Given the description of an element on the screen output the (x, y) to click on. 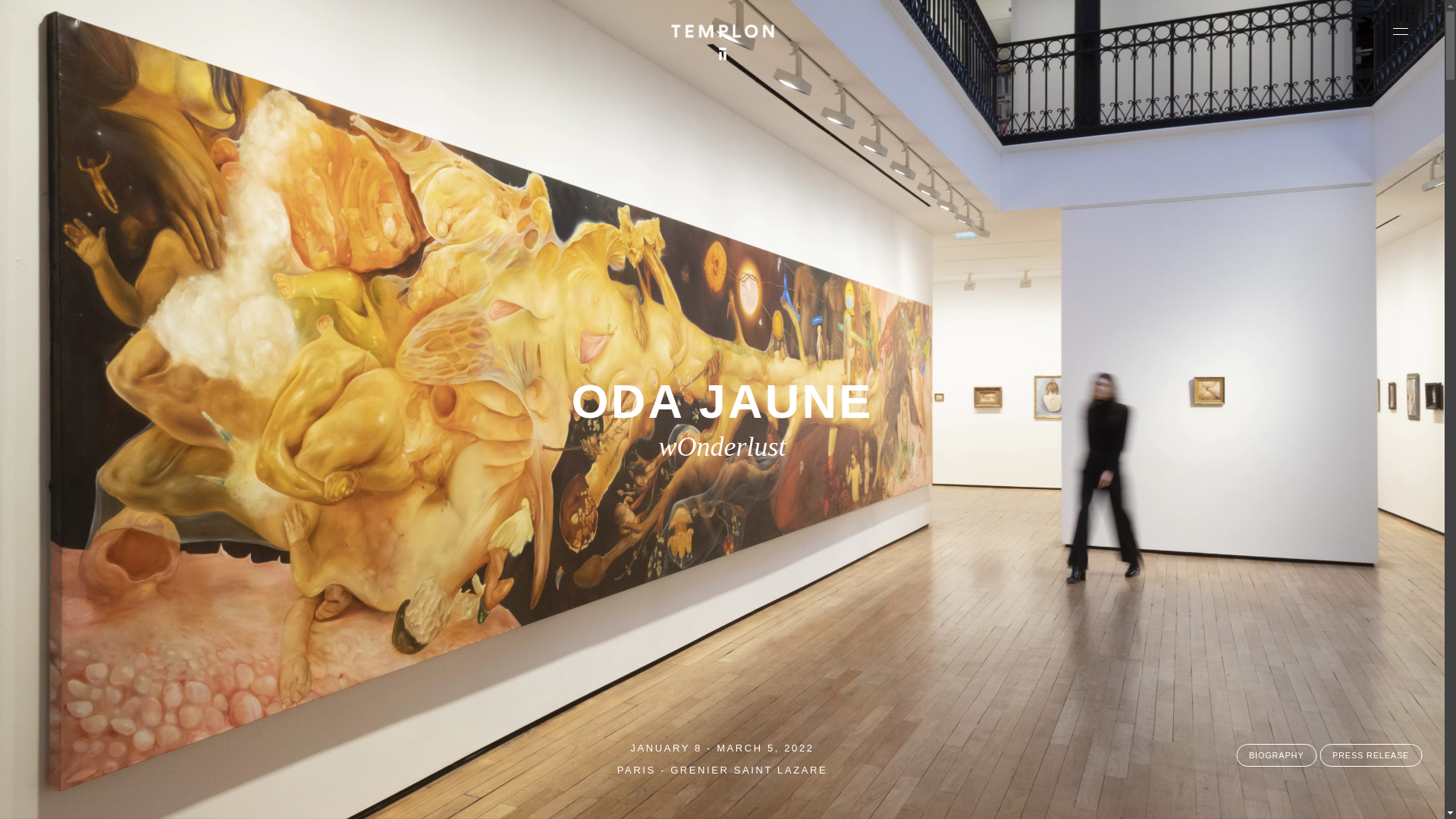
PRESS RELEASE (1370, 754)
BIOGRAPHY (1276, 754)
Menu (1400, 31)
